Given the description of an element on the screen output the (x, y) to click on. 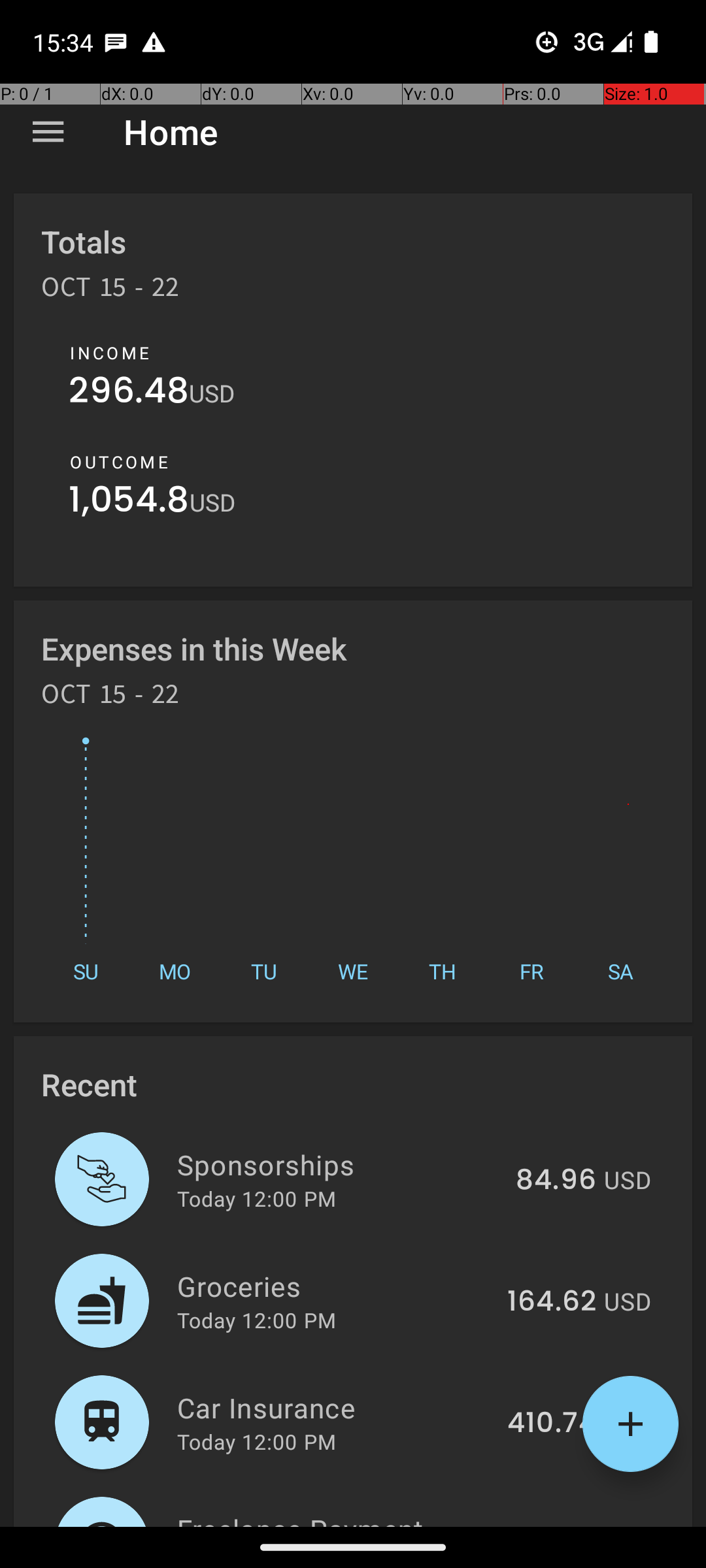
296.48 Element type: android.widget.TextView (128, 393)
1,054.8 Element type: android.widget.TextView (128, 502)
Sponsorships Element type: android.widget.TextView (338, 1164)
Today 12:00 PM Element type: android.widget.TextView (256, 1198)
84.96 Element type: android.widget.TextView (555, 1180)
Groceries Element type: android.widget.TextView (334, 1285)
164.62 Element type: android.widget.TextView (551, 1301)
Car Insurance Element type: android.widget.TextView (334, 1407)
410.74 Element type: android.widget.TextView (551, 1423)
Freelance Payment Element type: android.widget.TextView (330, 1518)
